Given the description of an element on the screen output the (x, y) to click on. 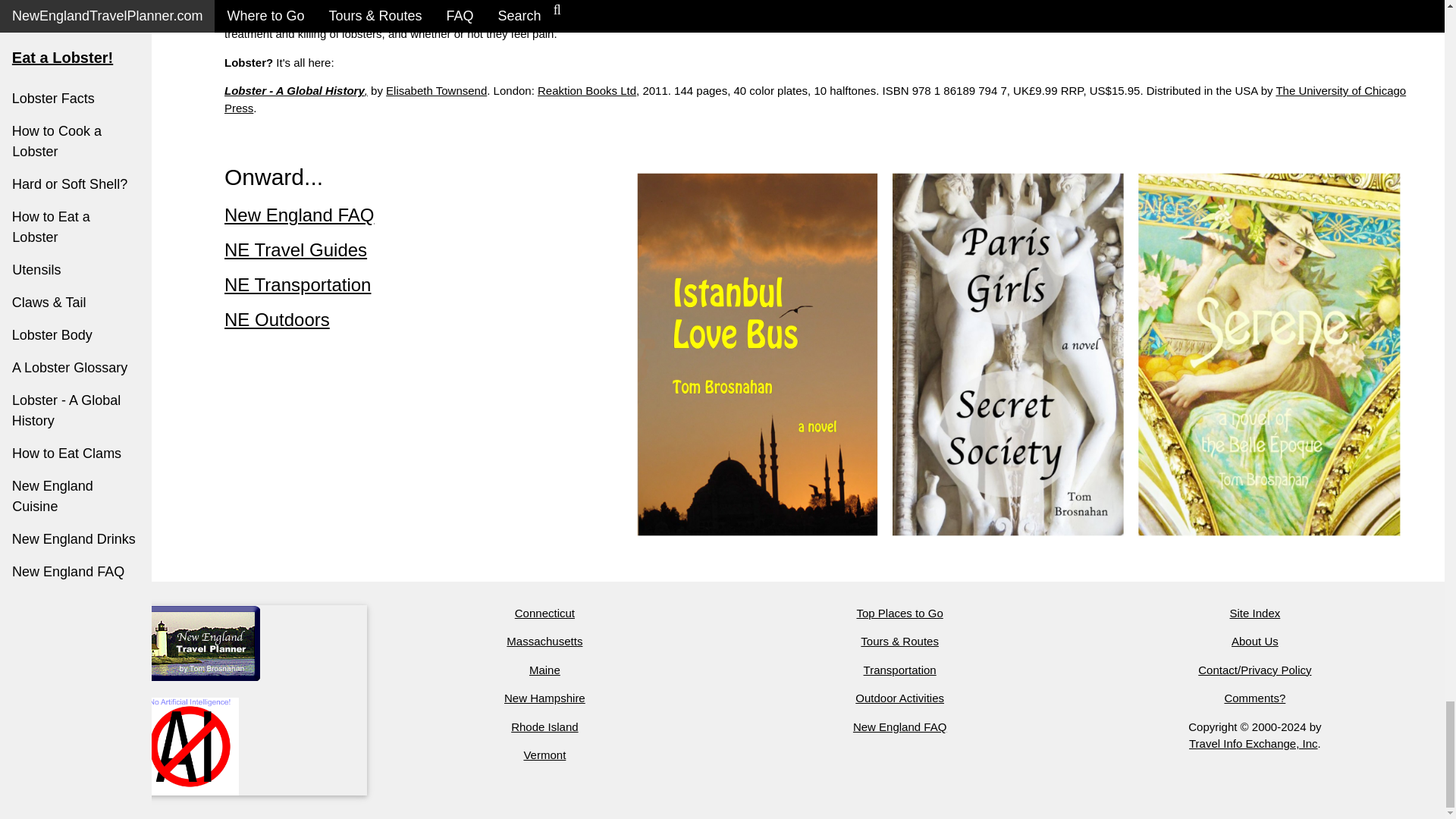
Lobster - A Global History (294, 90)
Lobster - A Global History (395, 16)
The University of Chicago Press (815, 99)
Reaktion Books Ltd (586, 90)
NE Transportation (297, 284)
NE Travel Guides (295, 249)
Elisabeth Townsend (435, 90)
New England FAQ (299, 214)
